Given the description of an element on the screen output the (x, y) to click on. 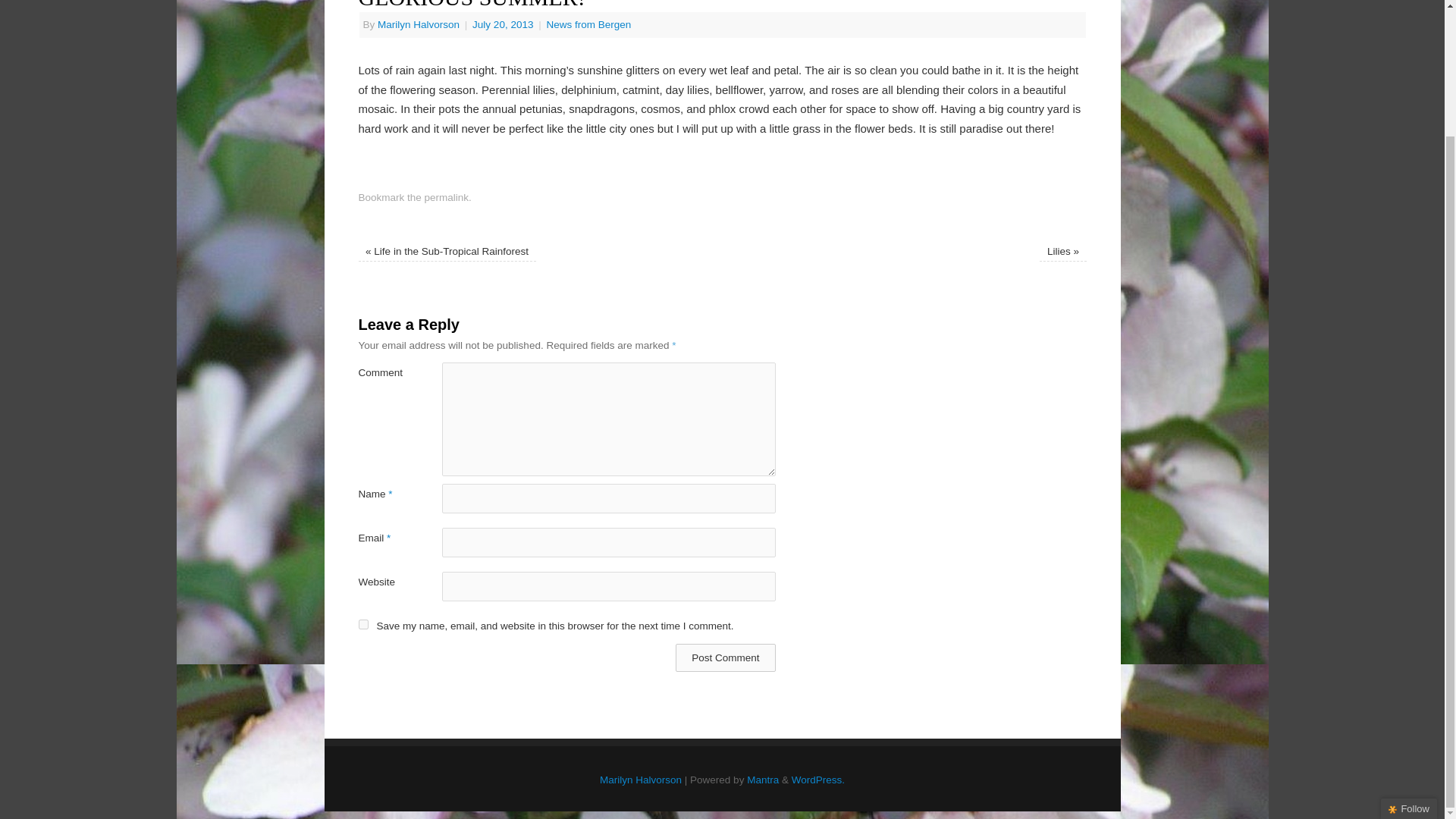
Semantic Personal Publishing Platform (818, 779)
News from Bergen (588, 24)
WordPress. (818, 779)
View all posts by Marilyn Halvorson (418, 24)
Mantra (762, 779)
Follow (1408, 656)
Marilyn Halvorson (418, 24)
permalink (446, 197)
Marilyn Halvorson (640, 779)
Post Comment (724, 657)
